Given the description of an element on the screen output the (x, y) to click on. 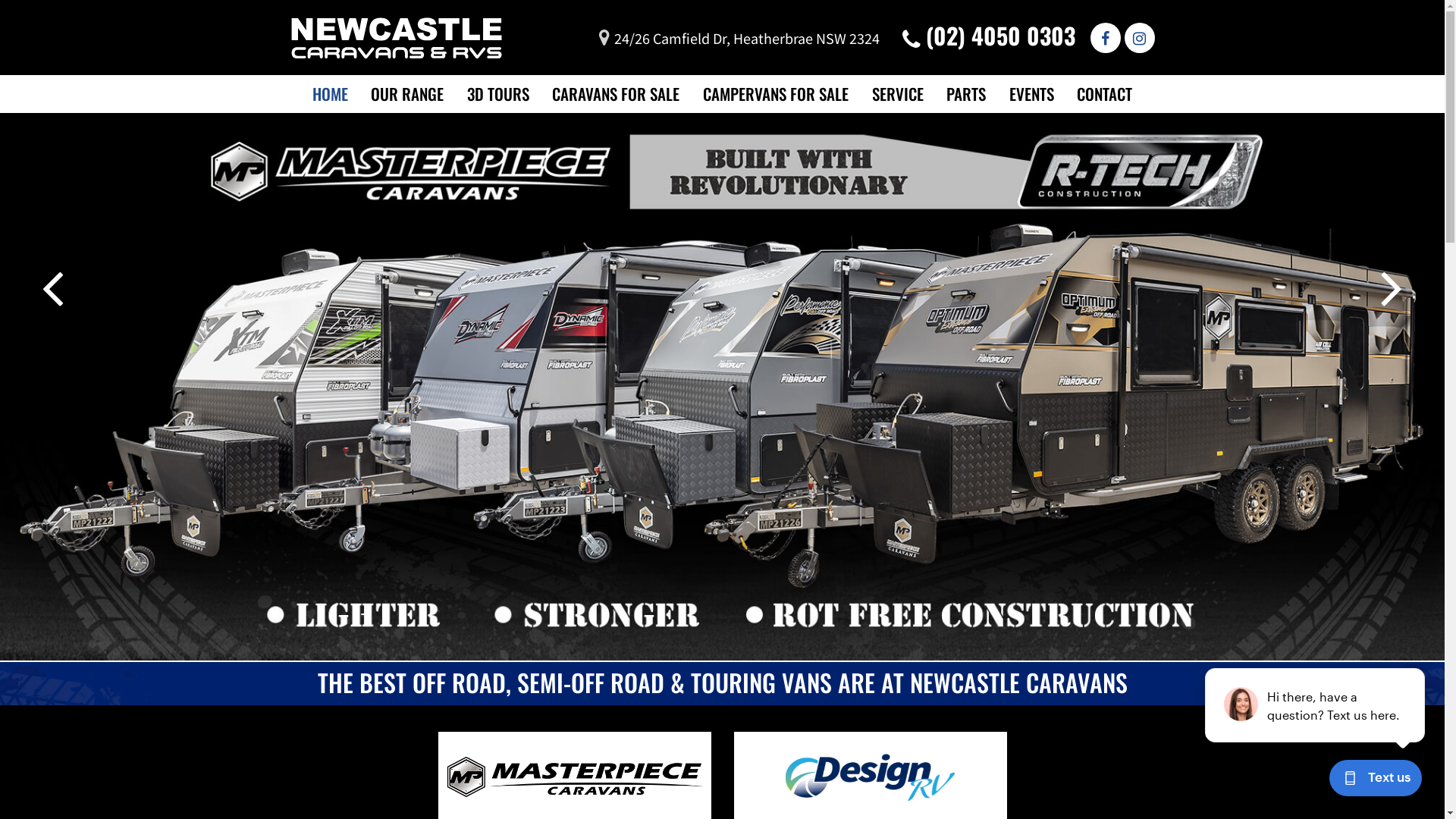
PARTS Element type: text (966, 93)
mp Element type: hover (722, 386)
podium webchat widget prompt Element type: hover (1315, 705)
CAMPERVANS FOR SALE Element type: text (775, 93)
OUR RANGE Element type: text (406, 93)
CONTACT Element type: text (1104, 93)
SERVICE Element type: text (897, 93)
EVENTS Element type: text (1031, 93)
CARAVANS FOR SALE Element type: text (615, 93)
3D TOURS Element type: text (497, 93)
HOME Element type: text (330, 93)
